Given the description of an element on the screen output the (x, y) to click on. 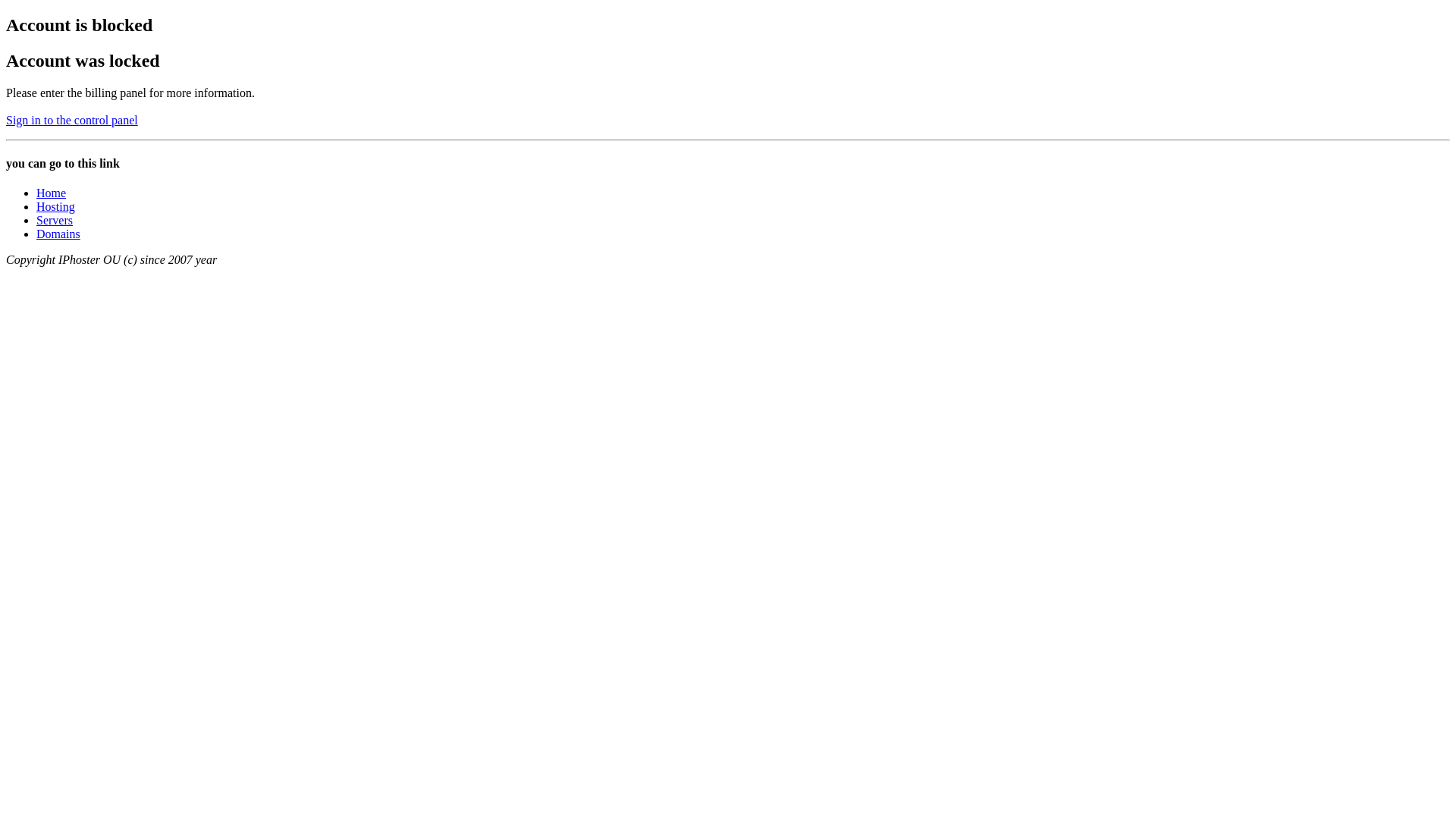
Sign in to the control panel Element type: text (72, 119)
Servers Element type: text (54, 219)
Home Element type: text (50, 192)
Hosting Element type: text (55, 206)
Domains Element type: text (58, 233)
